Given the description of an element on the screen output the (x, y) to click on. 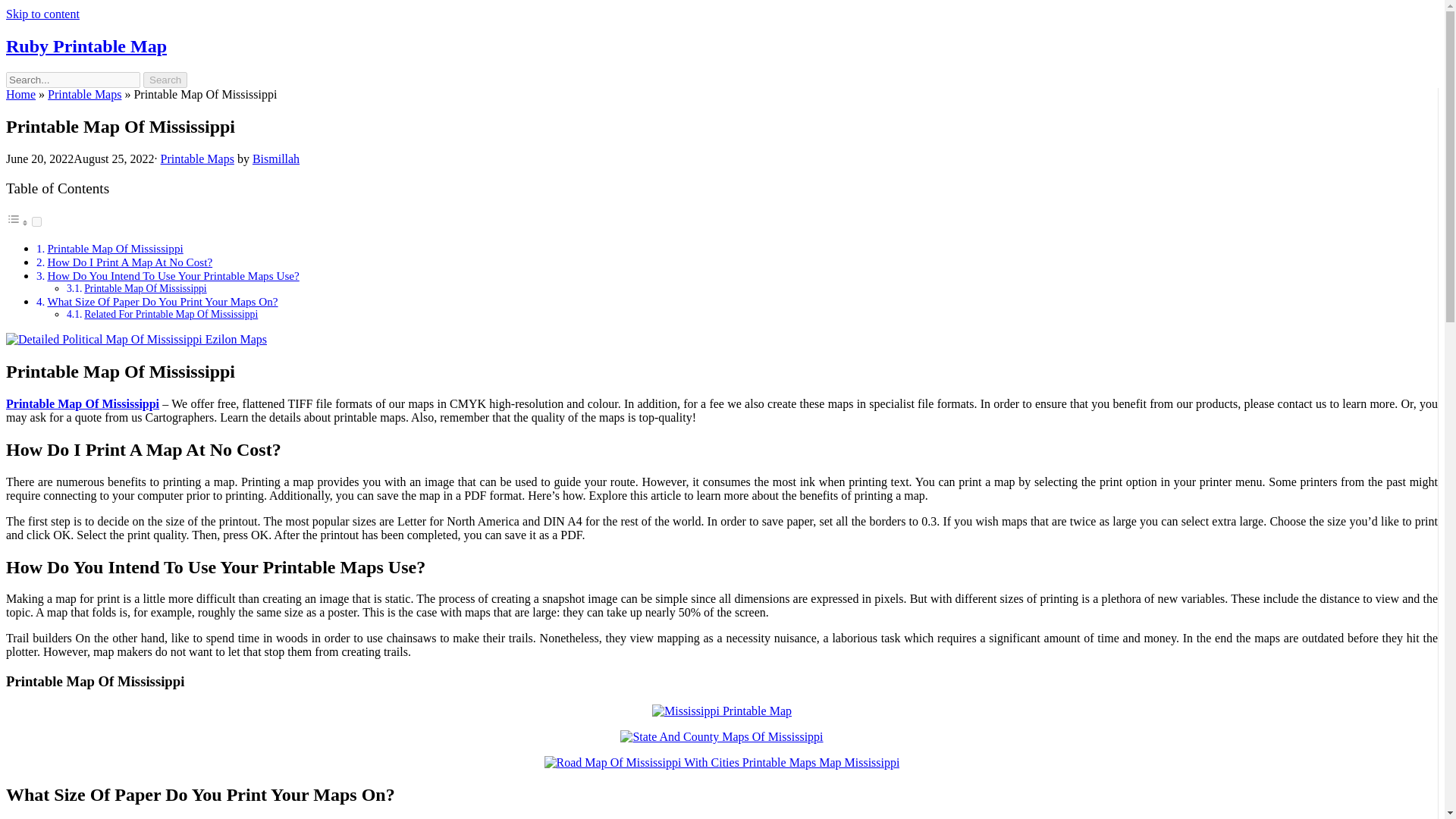
How Do You Intend To Use Your Printable Maps Use? (172, 275)
Search for: (72, 79)
Printable Maps (197, 158)
What Size Of Paper Do You Print Your Maps On? (162, 300)
Printable Maps (84, 93)
Ruby Printable Map (86, 46)
Skip to content (42, 13)
mississippi printable map scaled (722, 711)
How Do You Intend To Use Your Printable Maps Use? (172, 275)
Search (164, 79)
